Given the description of an element on the screen output the (x, y) to click on. 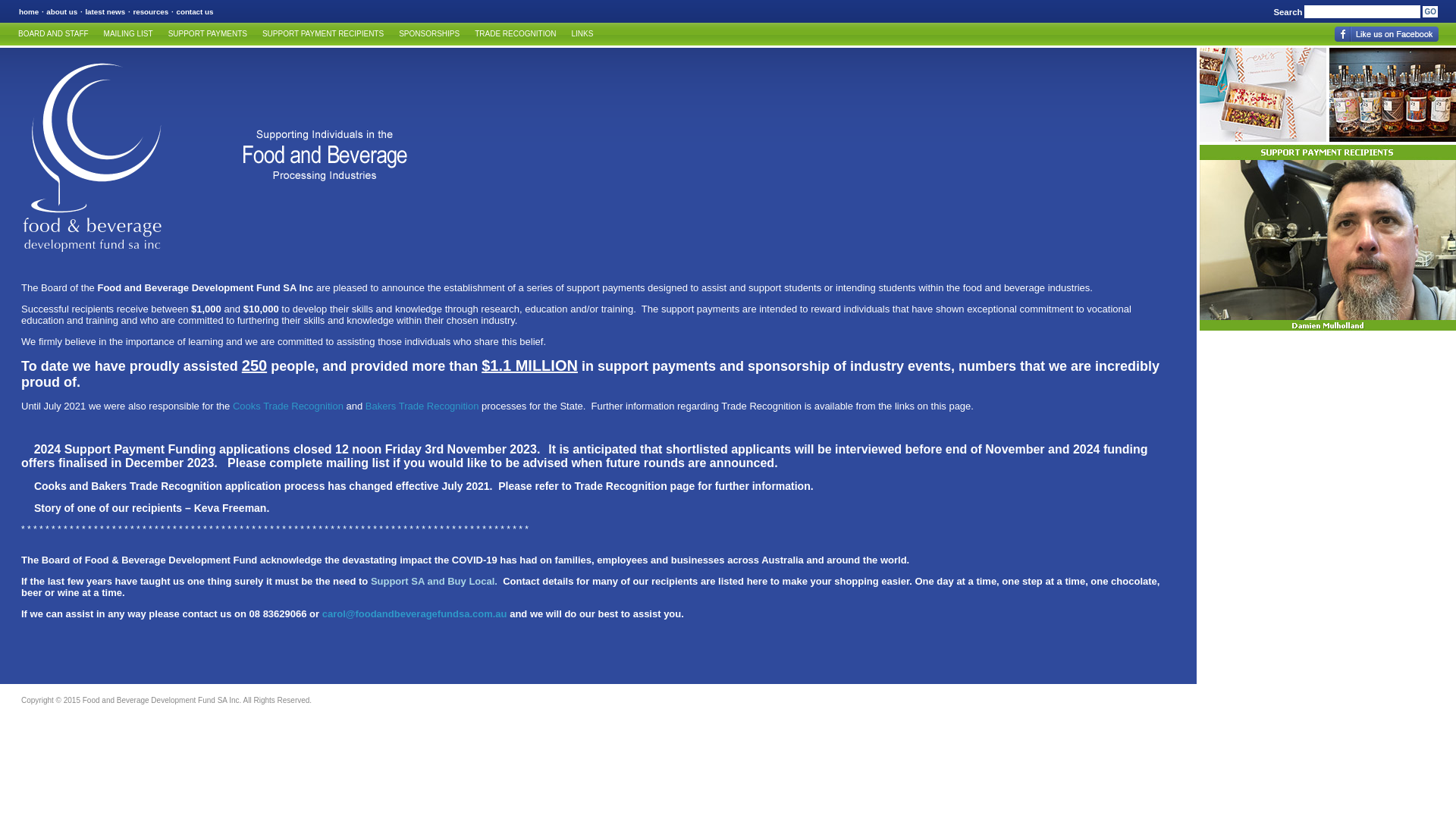
carol@foodandbeveragefundsa.com.au Element type: text (414, 613)
Bakers Trade Recognition Element type: text (422, 405)
LINKS Element type: text (581, 33)
SUPPORT PAYMENT RECIPIENTS Element type: text (322, 33)
GO Element type: text (1429, 11)
SUPPORT PAYMENTS Element type: text (207, 33)
about us Element type: text (61, 11)
latest news Element type: text (104, 11)
contact us Element type: text (194, 11)
BOARD AND STAFF Element type: text (53, 33)
Cooks Trade Recognition Element type: text (287, 405)
MAILING LIST Element type: text (128, 33)
resources Element type: text (150, 11)
home Element type: text (28, 11)
TRADE RECOGNITION Element type: text (515, 33)
SPONSORSHIPS Element type: text (429, 33)
